Given the description of an element on the screen output the (x, y) to click on. 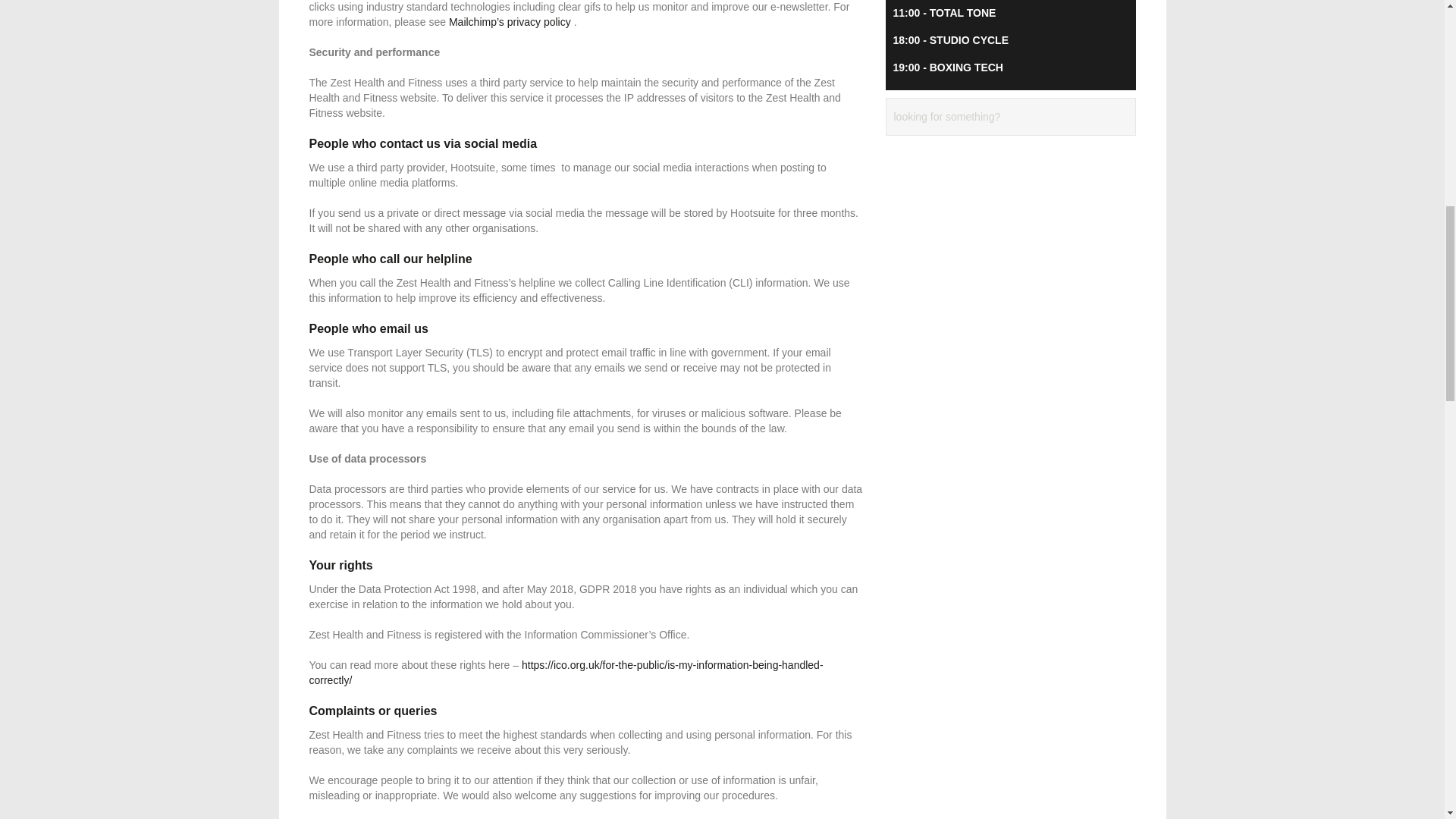
looking for something?  (997, 116)
looking for something?  (997, 116)
